Given the description of an element on the screen output the (x, y) to click on. 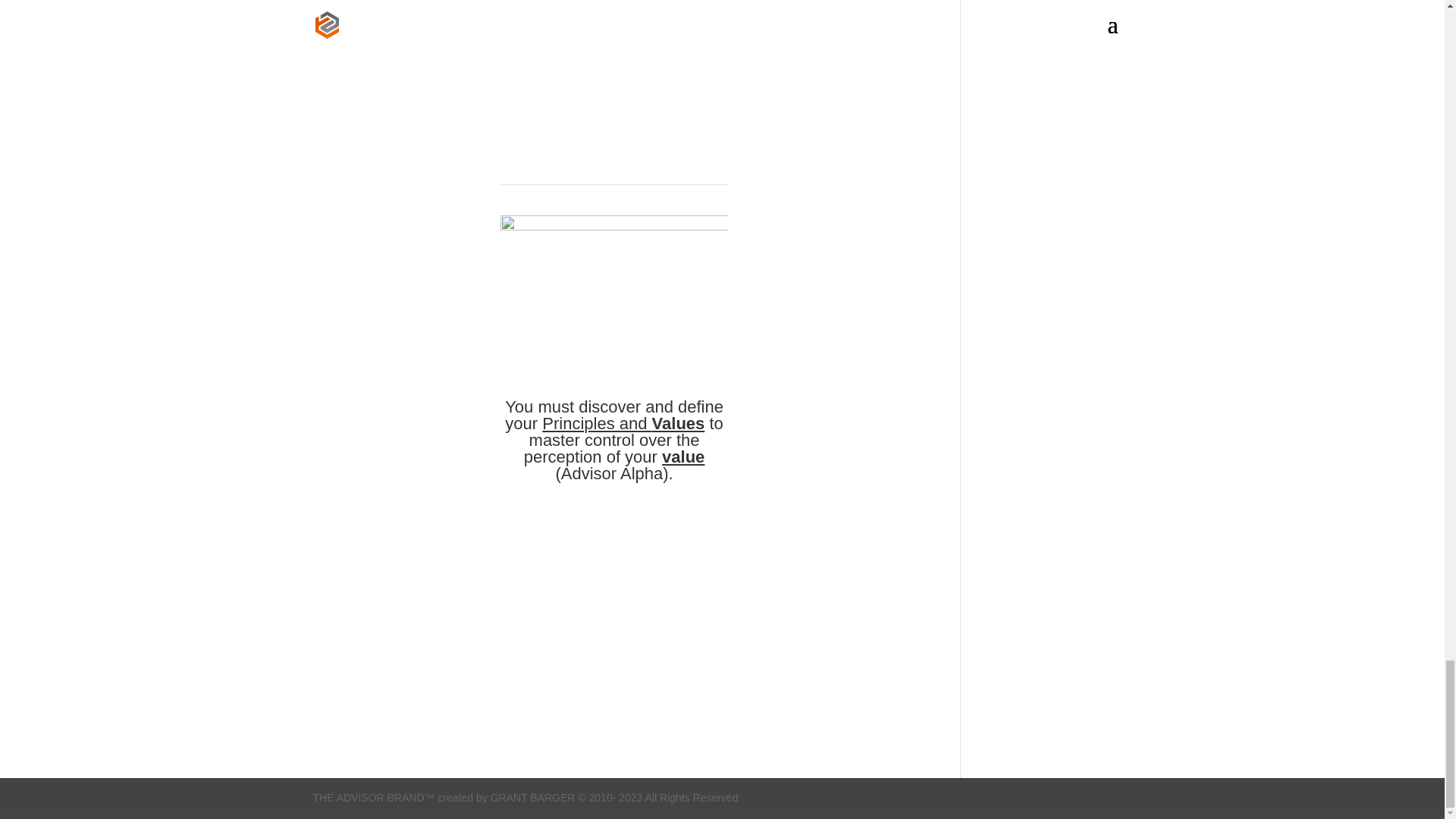
Build On Purpose (608, 635)
Principles and Values (620, 423)
